Given the description of an element on the screen output the (x, y) to click on. 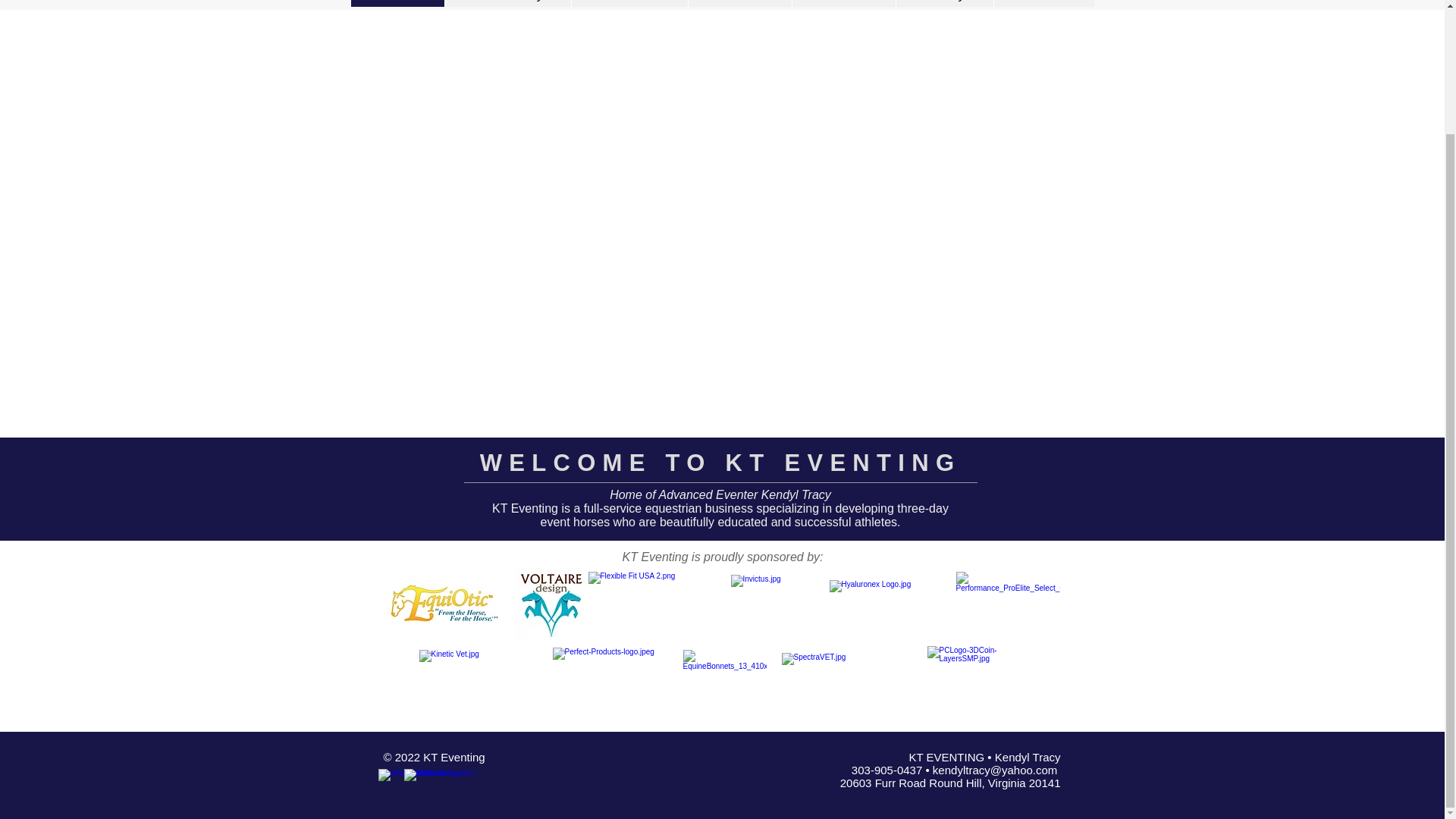
About Kendyl (507, 3)
Contact (1043, 3)
The Horses (628, 3)
Services (843, 3)
Facility (943, 3)
For Sale (738, 3)
Home (397, 3)
